Given the description of an element on the screen output the (x, y) to click on. 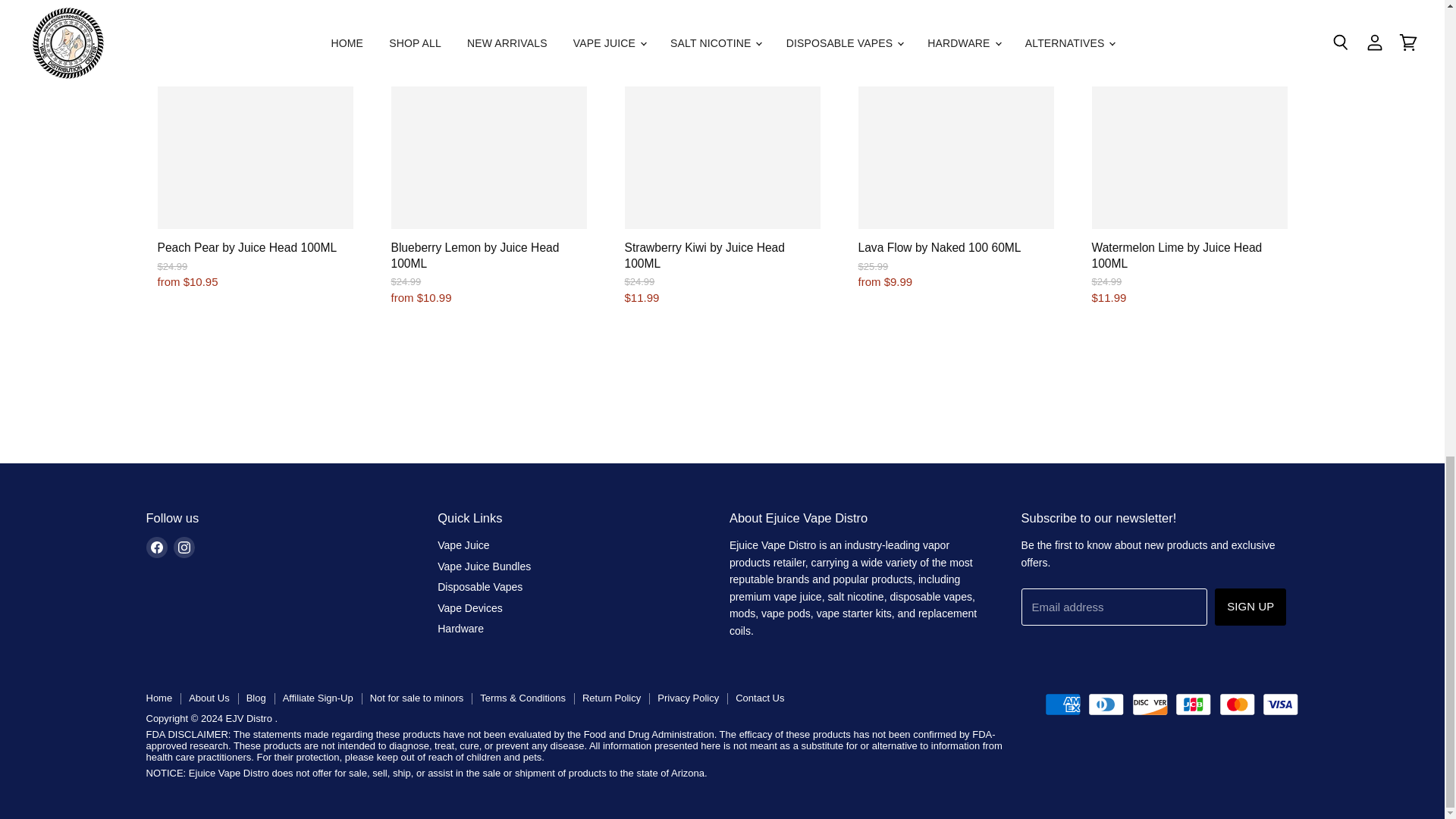
Instagram (183, 547)
Facebook (156, 547)
